Given the description of an element on the screen output the (x, y) to click on. 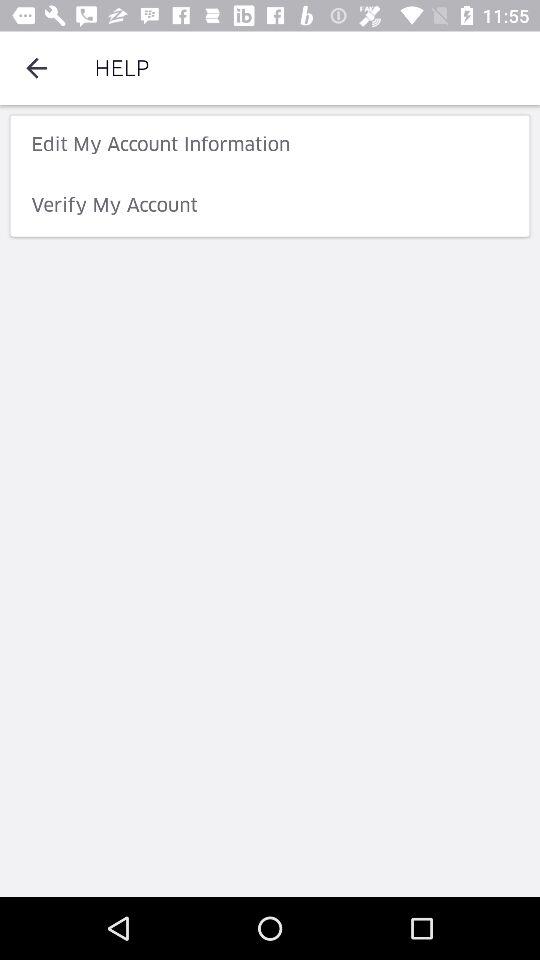
turn on the item next to help icon (36, 68)
